Given the description of an element on the screen output the (x, y) to click on. 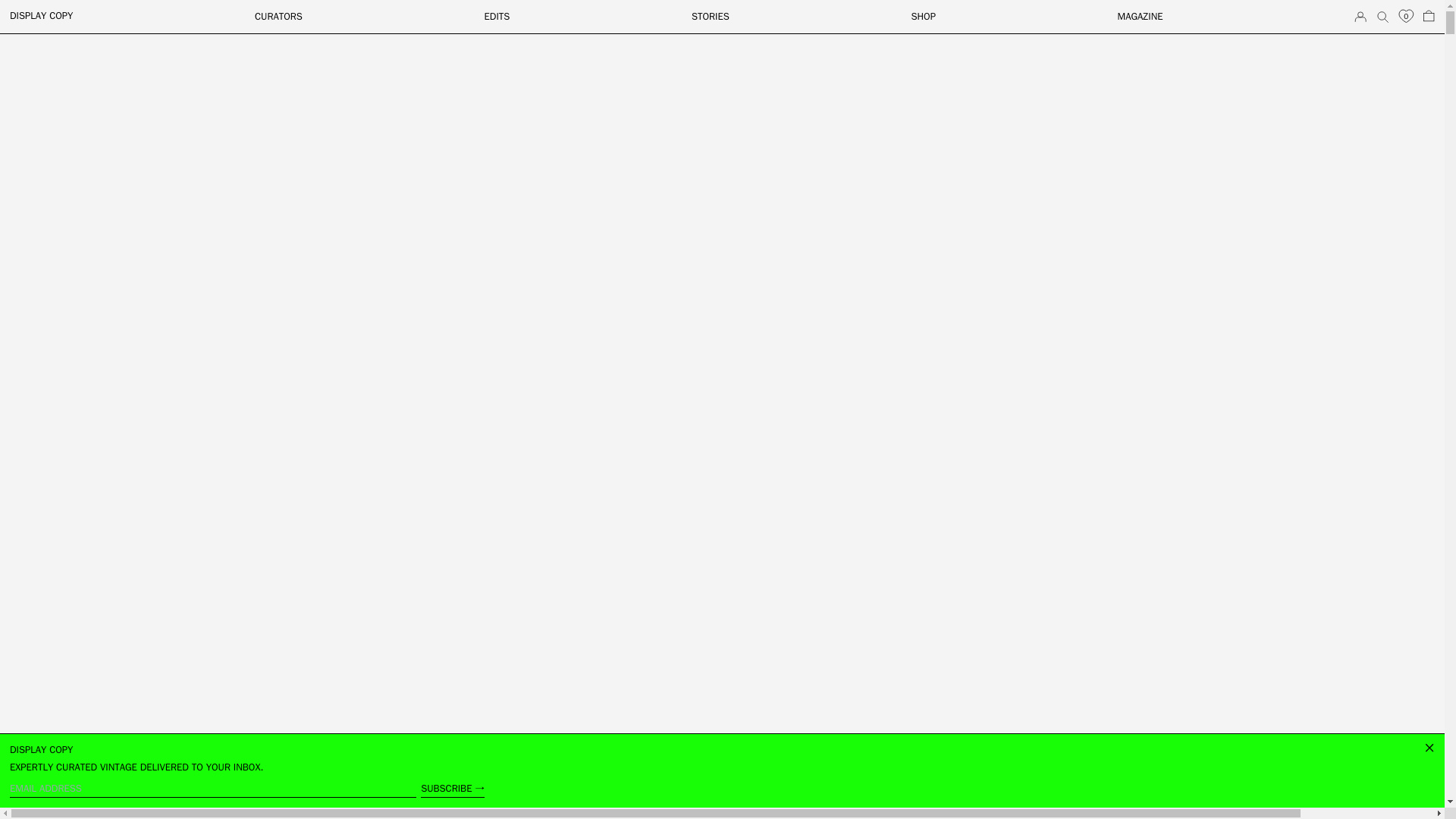
SHOP (922, 15)
MAGAZINE (1140, 15)
EDITS (497, 15)
DISPLAY COPY (41, 15)
CURATORS (278, 15)
STORIES (710, 15)
